Given the description of an element on the screen output the (x, y) to click on. 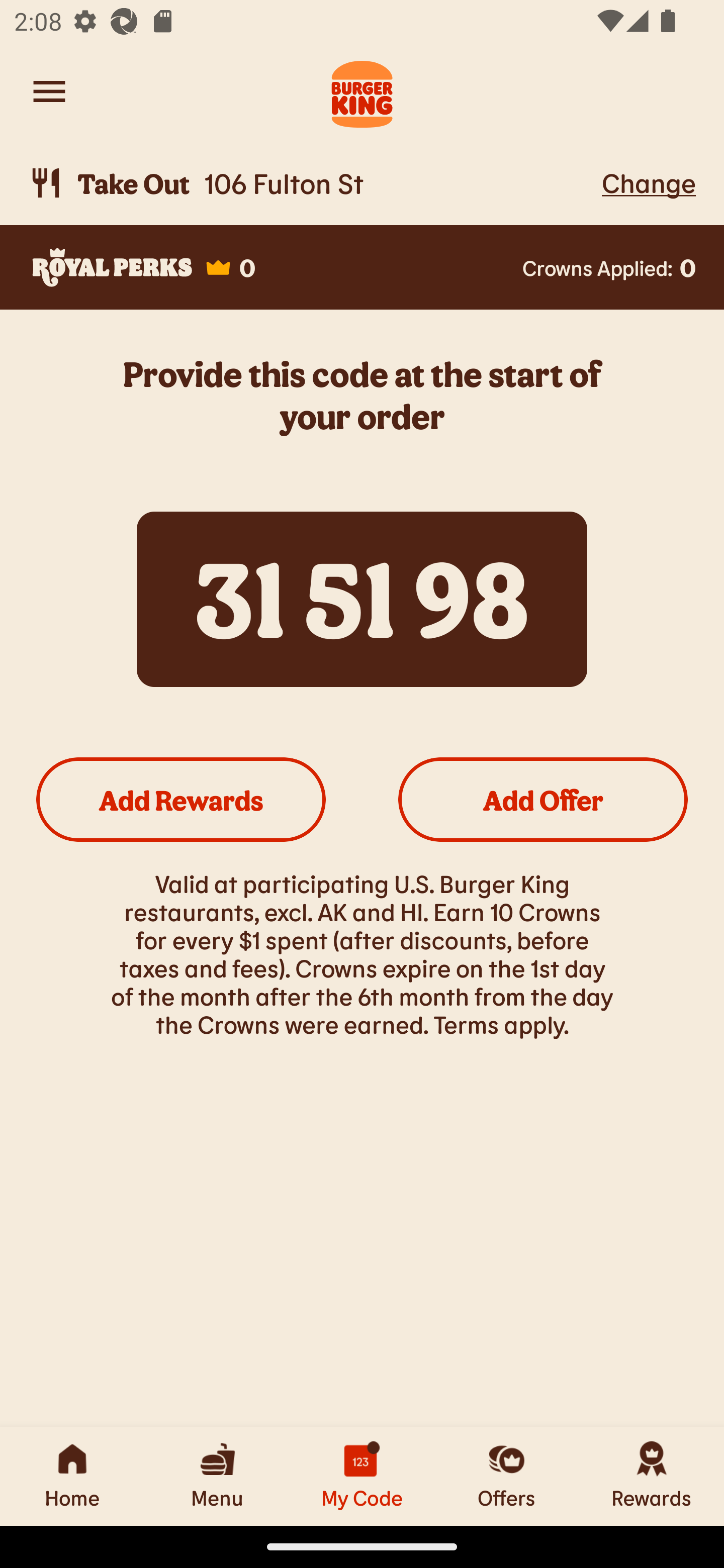
Burger King Logo. Navigate to Home (362, 91)
Navigate to account menu  (49, 91)
Take Out, 106 Fulton St  Take Out 106 Fulton St (311, 183)
Change (648, 182)
Add Rewards (180, 799)
Add Offer (542, 799)
Home (72, 1475)
Menu (216, 1475)
My Code (361, 1475)
Offers (506, 1475)
Rewards (651, 1475)
